Given the description of an element on the screen output the (x, y) to click on. 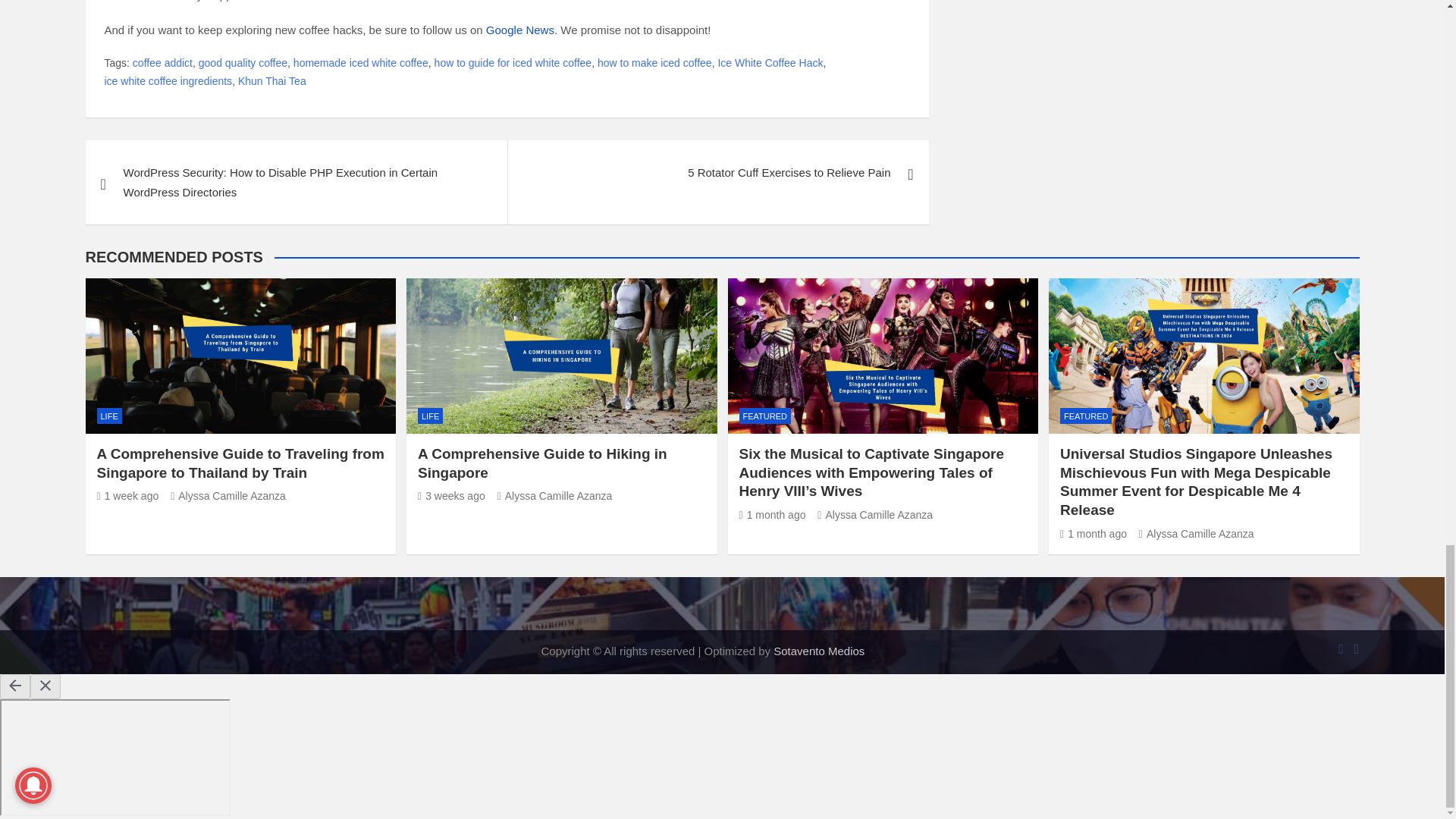
A Comprehensive Guide to Hiking in Singapore (450, 495)
